Given the description of an element on the screen output the (x, y) to click on. 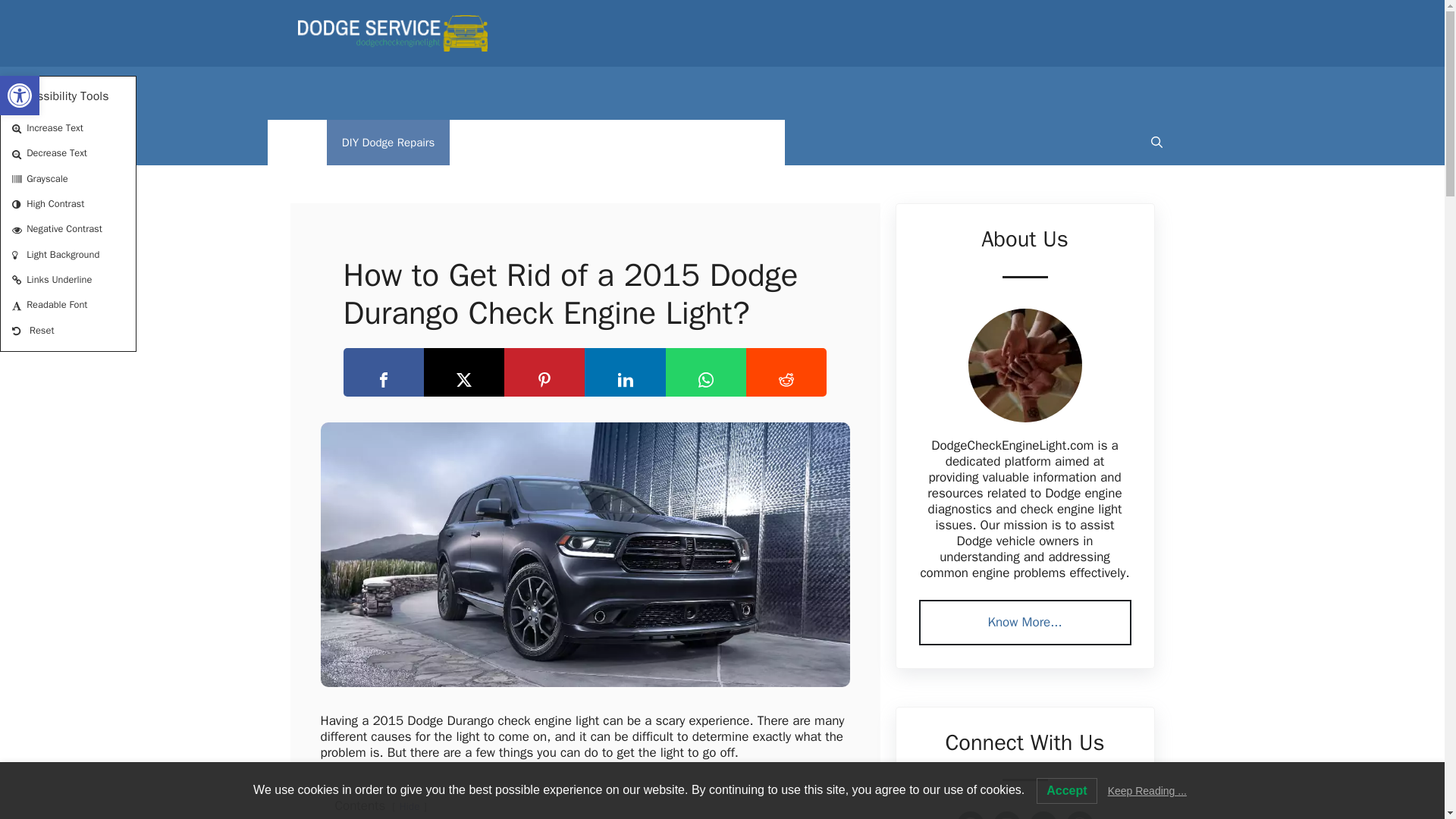
Accessibility Tools (19, 95)
Instagram (1006, 815)
Negative ContrastNegative Contrast (68, 229)
Decrease TextDecrease Text (68, 153)
Readable FontReadable Font (68, 304)
Readable Font (18, 306)
Home (296, 142)
High Contrast (18, 204)
Reset (18, 330)
